Given the description of an element on the screen output the (x, y) to click on. 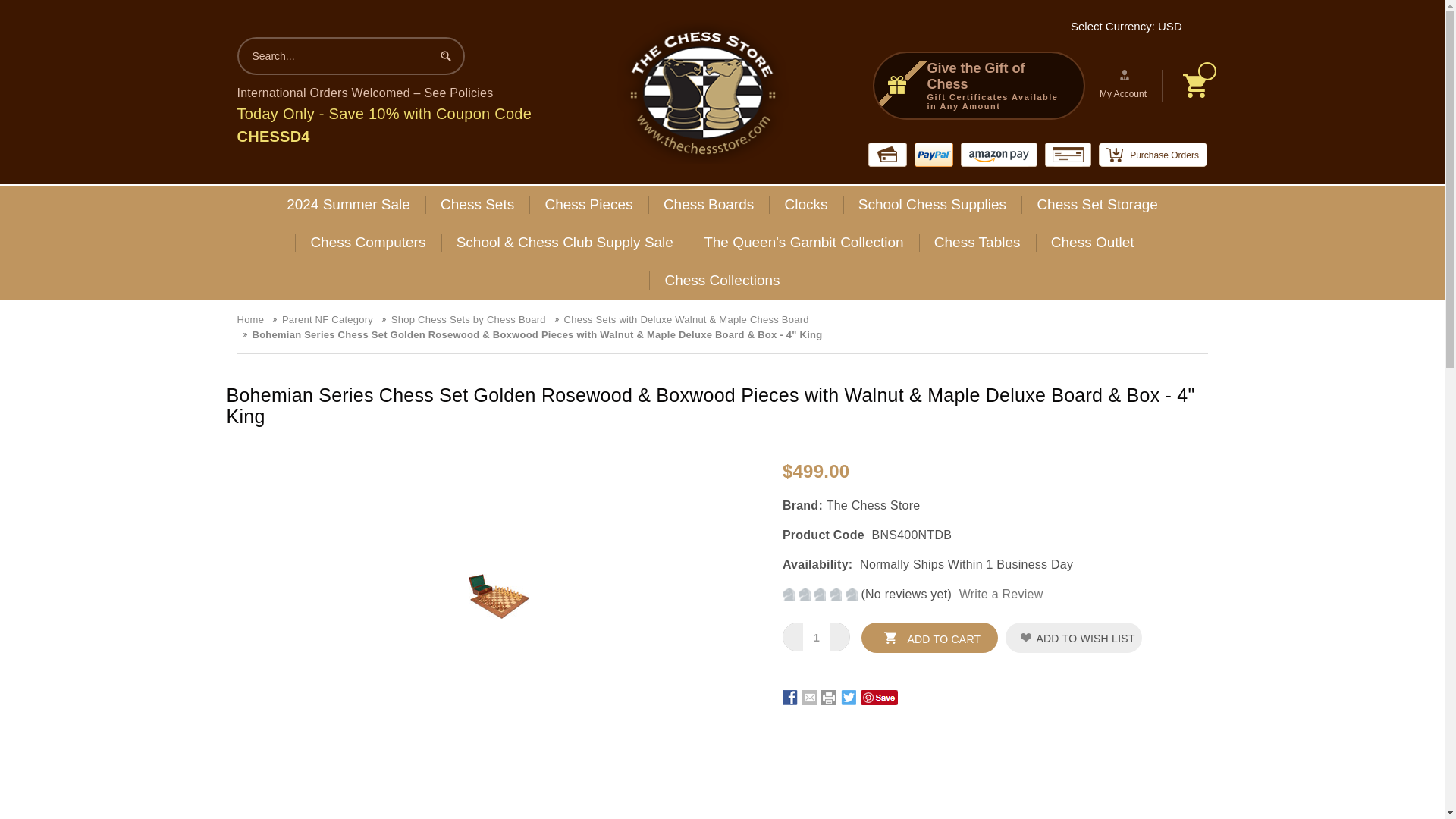
My Account (1124, 85)
Search (445, 55)
2024 Summer Sale (347, 204)
Select Currency: USD (1131, 25)
Chess Pieces (588, 204)
Search (445, 55)
1 (816, 636)
Add to Cart (929, 637)
Purchase Orders (1153, 154)
